Given the description of an element on the screen output the (x, y) to click on. 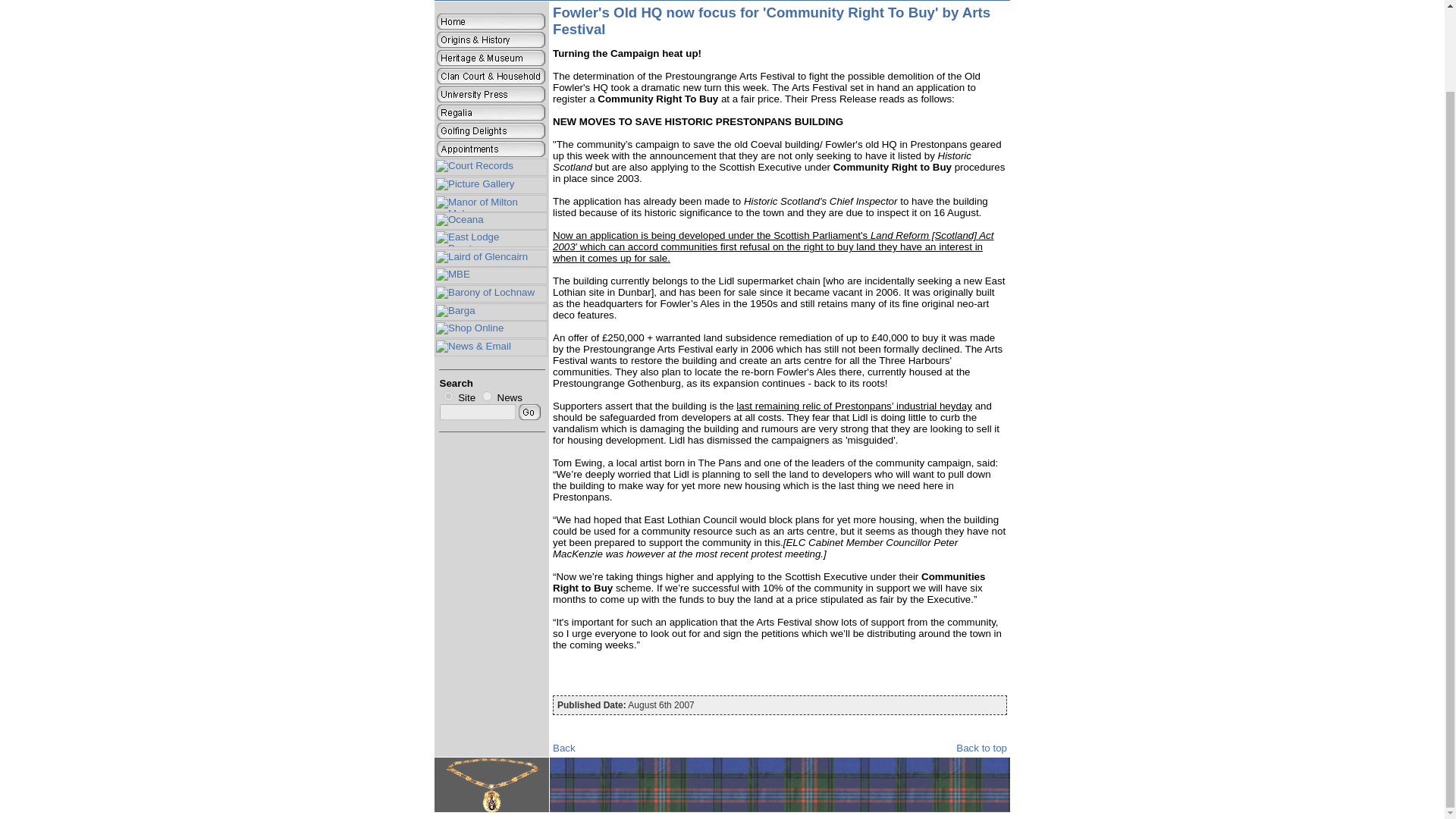
site (447, 396)
PRESTONPANS (751, 0)
news (486, 396)
ARTS FESTIVAL (833, 0)
Back (564, 747)
GO (529, 411)
